Given the description of an element on the screen output the (x, y) to click on. 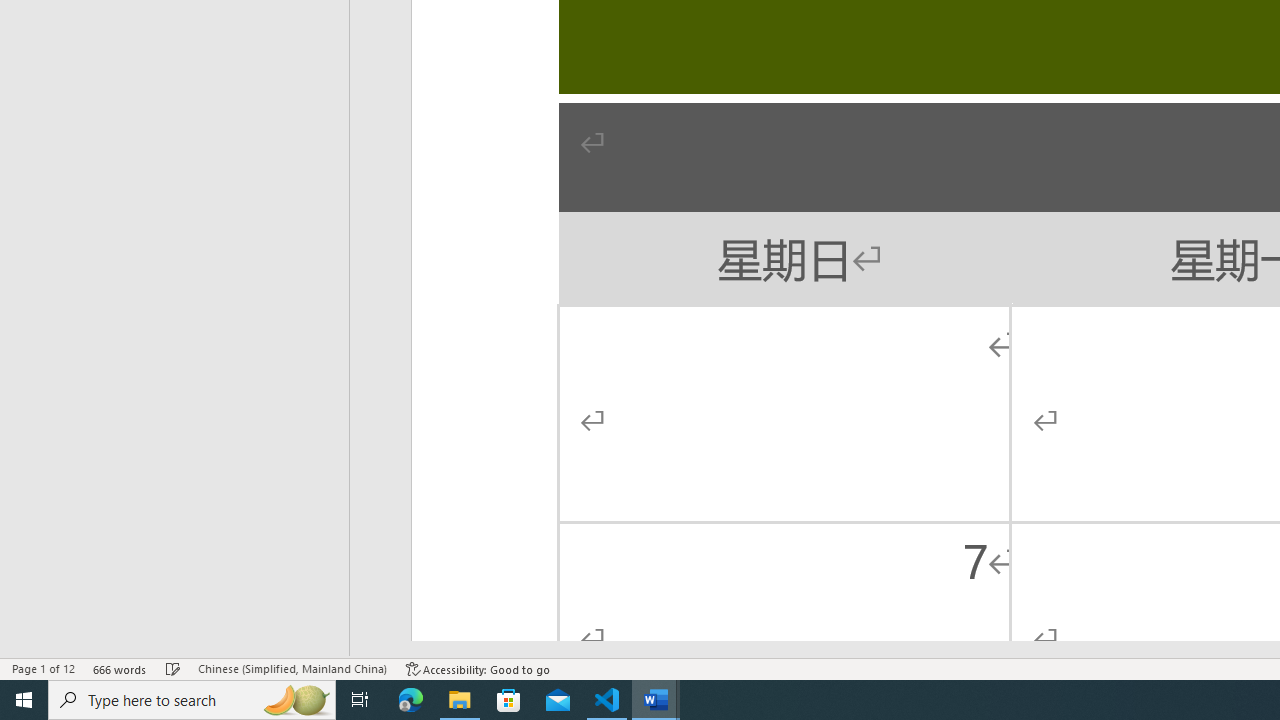
Page Number Page 1 of 12 (43, 668)
Word Count 666 words (119, 668)
